Given the description of an element on the screen output the (x, y) to click on. 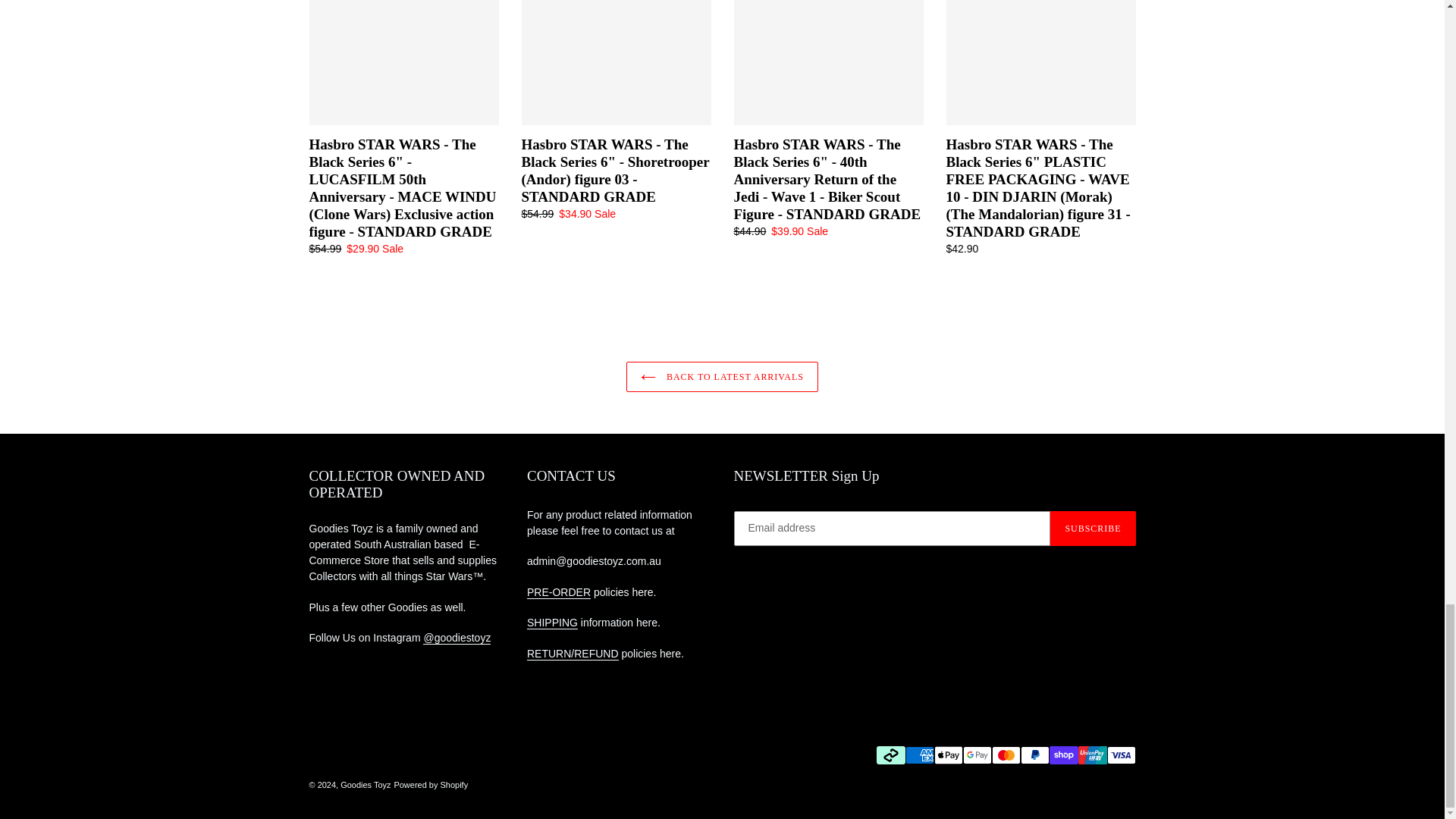
Shipping Policy (552, 622)
Refund Policy (572, 653)
PRE-ORDERS (559, 592)
